Given the description of an element on the screen output the (x, y) to click on. 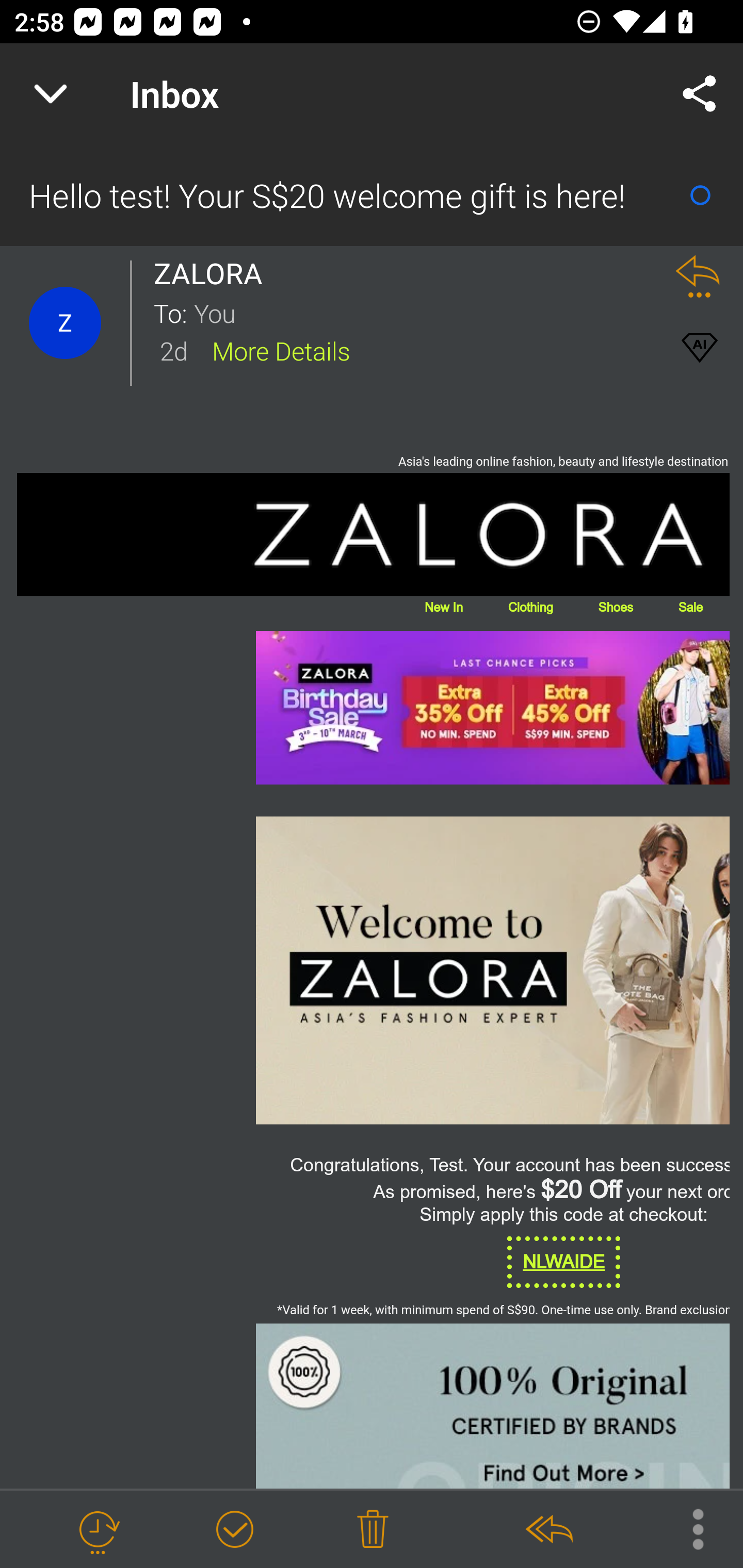
Navigate up (50, 93)
Share (699, 93)
Mark as Read (699, 194)
ZALORA (213, 273)
Contact Details (64, 322)
More Details (280, 349)
ZALORA (373, 533)
New In (442, 606)
Clothing (530, 606)
Shoes (615, 606)
Sale (690, 606)
click?upn=u001 (492, 707)
zalora (373, 969)
NLWAIDE (563, 1261)
banner_image (373, 1405)
More Options (687, 1528)
Snooze (97, 1529)
Mark as Done (234, 1529)
Delete (372, 1529)
Reply All (548, 1529)
